Given the description of an element on the screen output the (x, y) to click on. 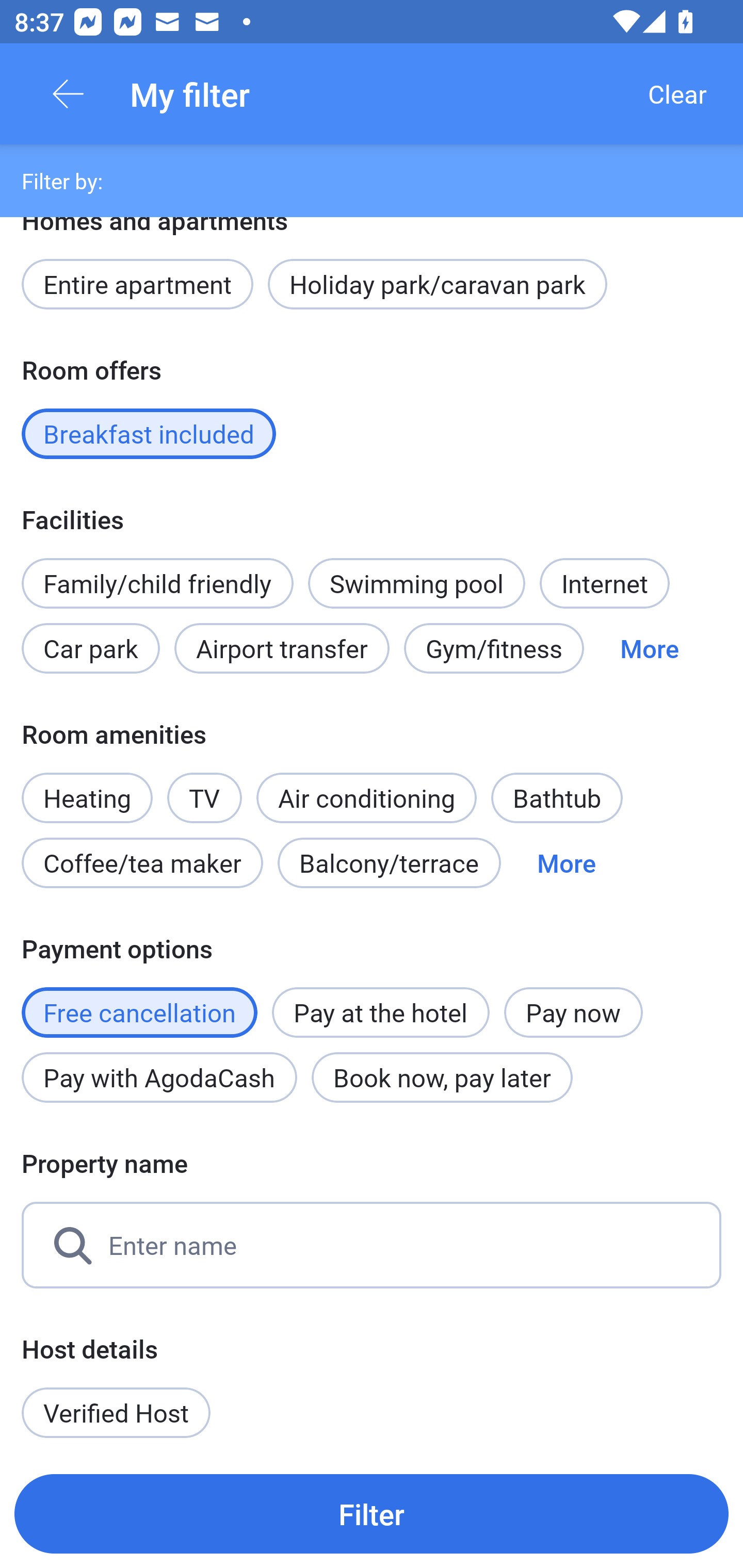
Clear (676, 93)
Entire apartment (137, 284)
Holiday park/caravan park (437, 284)
Family/child friendly (157, 583)
Swimming pool (416, 583)
Internet (604, 583)
Car park (90, 648)
Airport transfer (281, 648)
Gym/fitness (493, 648)
More (649, 648)
Heating (87, 787)
TV (204, 787)
Air conditioning (366, 798)
Bathtub (556, 798)
Coffee/tea maker (142, 863)
Balcony/terrace (388, 863)
More (566, 863)
Pay at the hotel (380, 1012)
Pay now (572, 1012)
Pay with AgodaCash (159, 1077)
Book now, pay later (441, 1077)
Enter name (371, 1244)
Verified Host (115, 1412)
Filter (371, 1513)
